Given the description of an element on the screen output the (x, y) to click on. 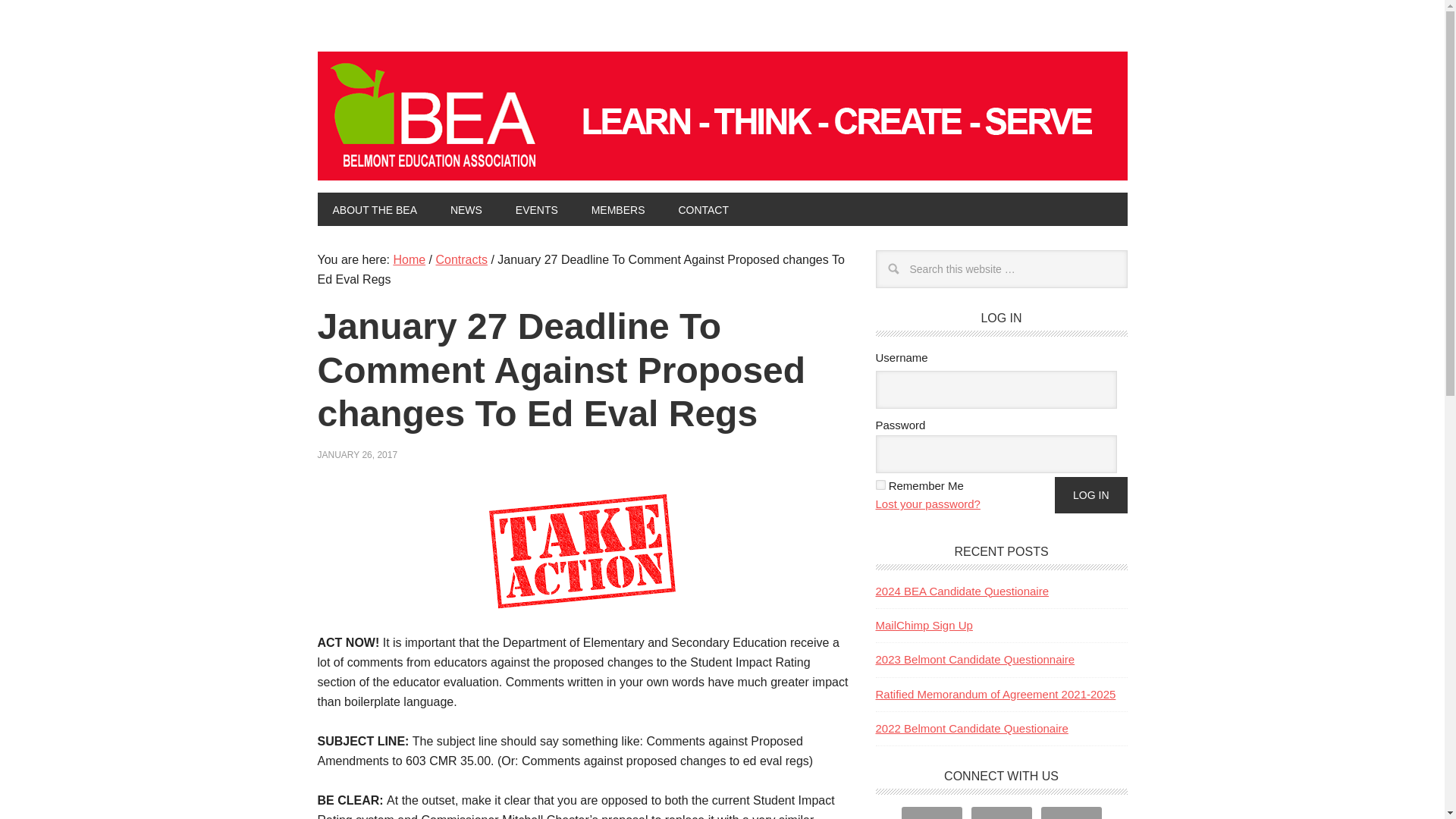
MailChimp Sign Up (923, 625)
ABOUT THE BEA (374, 209)
Lost your password? (927, 503)
MEMBERS (618, 209)
CONTACT (703, 209)
Contracts (460, 259)
forever (880, 484)
2023 Belmont Candidate Questionnaire (974, 658)
2022 Belmont Candidate Questionaire (971, 727)
Log In (1090, 494)
Home (409, 259)
Log In (1090, 494)
2024 BEA Candidate Questionaire (961, 590)
